Given the description of an element on the screen output the (x, y) to click on. 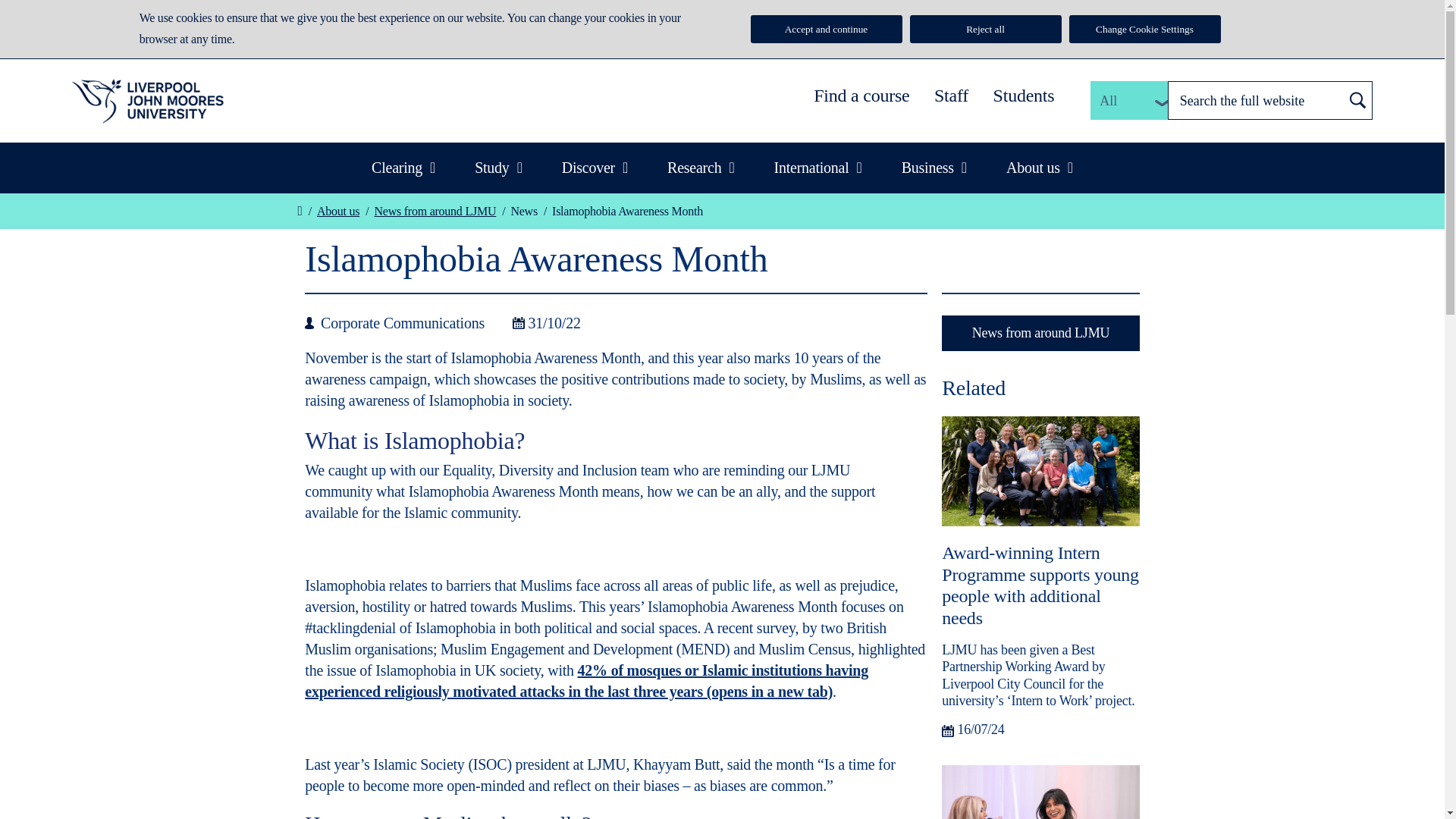
Reject all (985, 29)
Find a course (860, 95)
Search (1358, 100)
Accept and continue (826, 29)
Staff (951, 95)
Students (1023, 95)
